Given the description of an element on the screen output the (x, y) to click on. 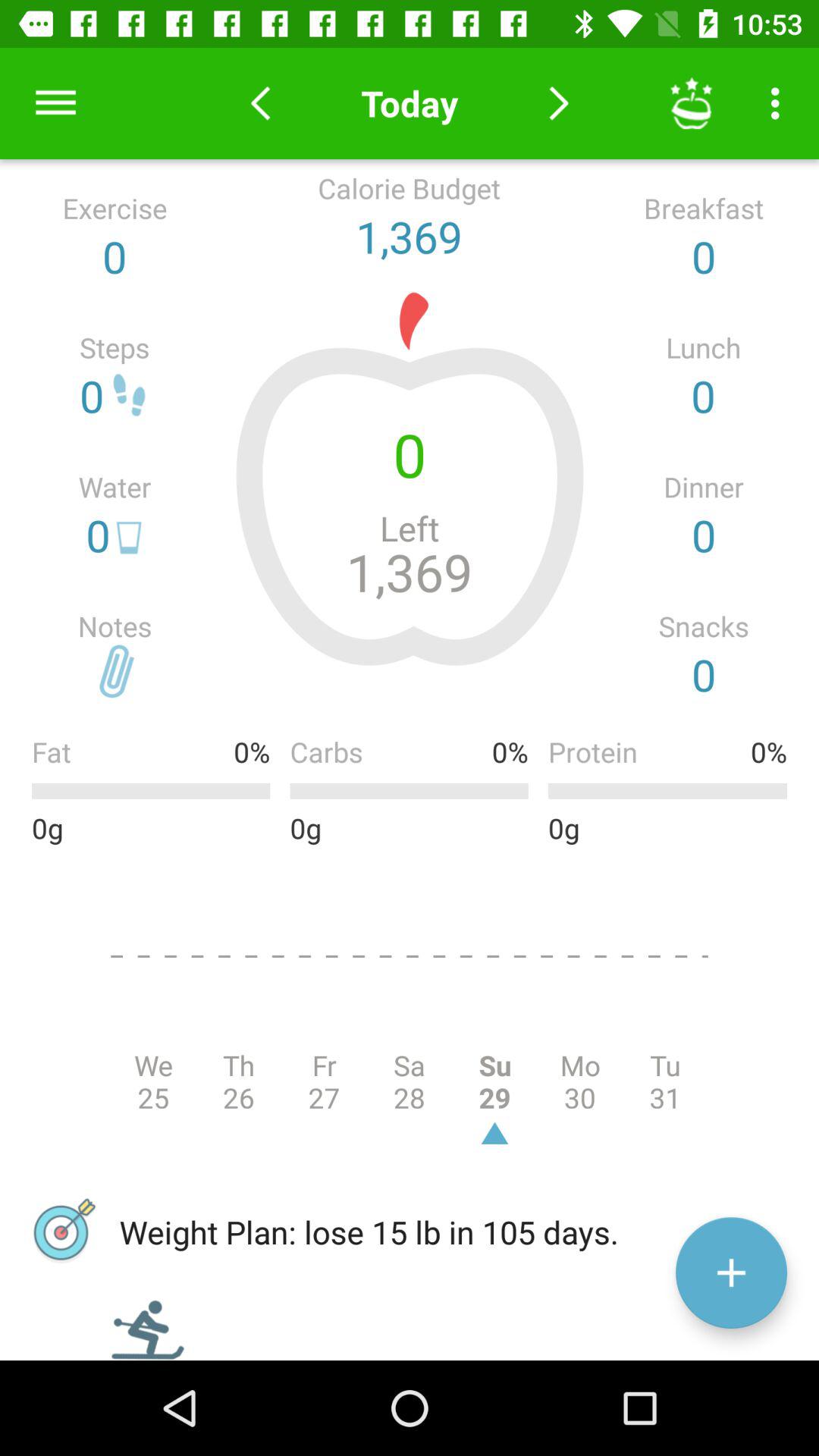
add item (731, 1272)
